Given the description of an element on the screen output the (x, y) to click on. 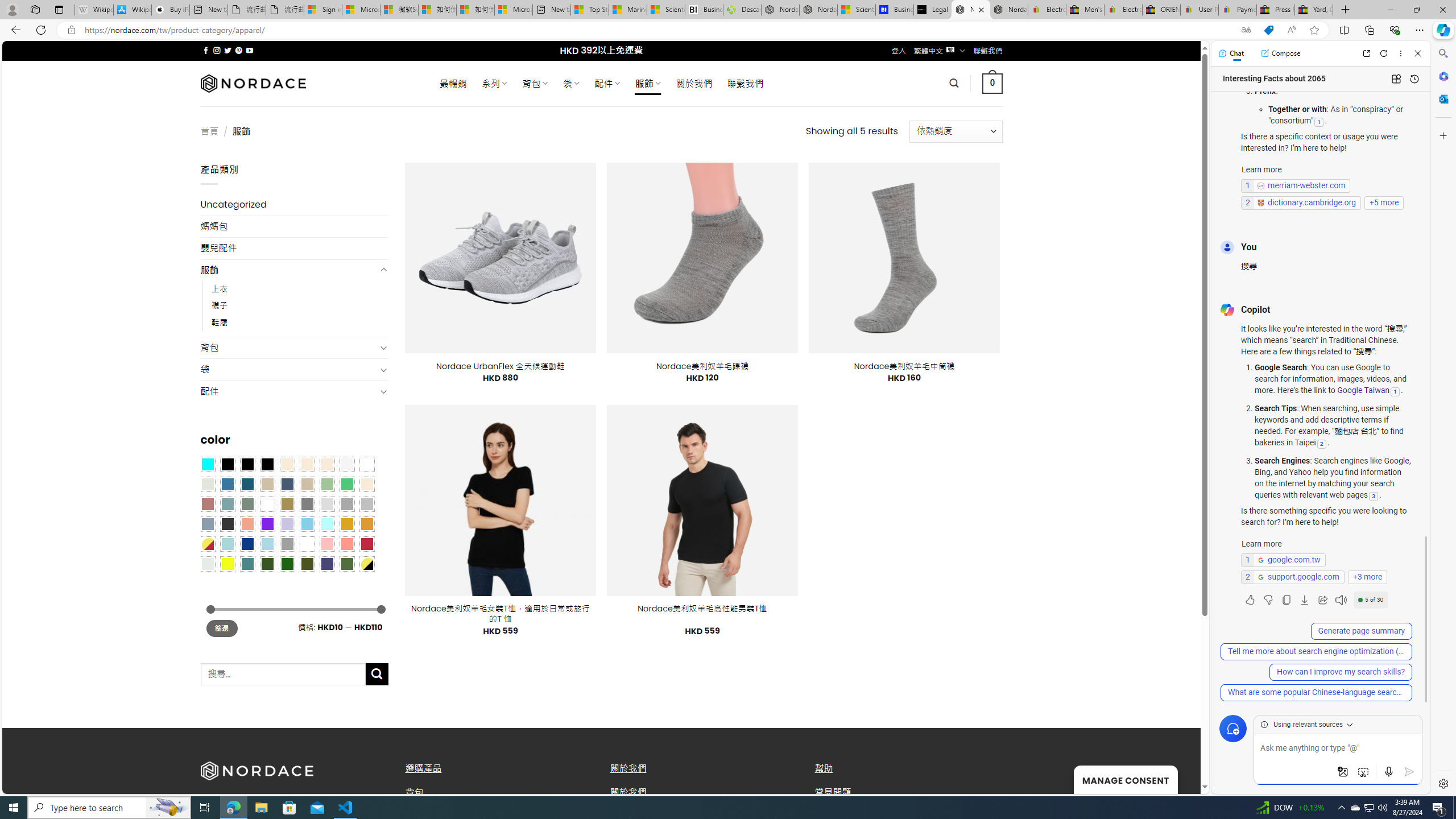
Follow on Instagram (216, 50)
